Given the description of an element on the screen output the (x, y) to click on. 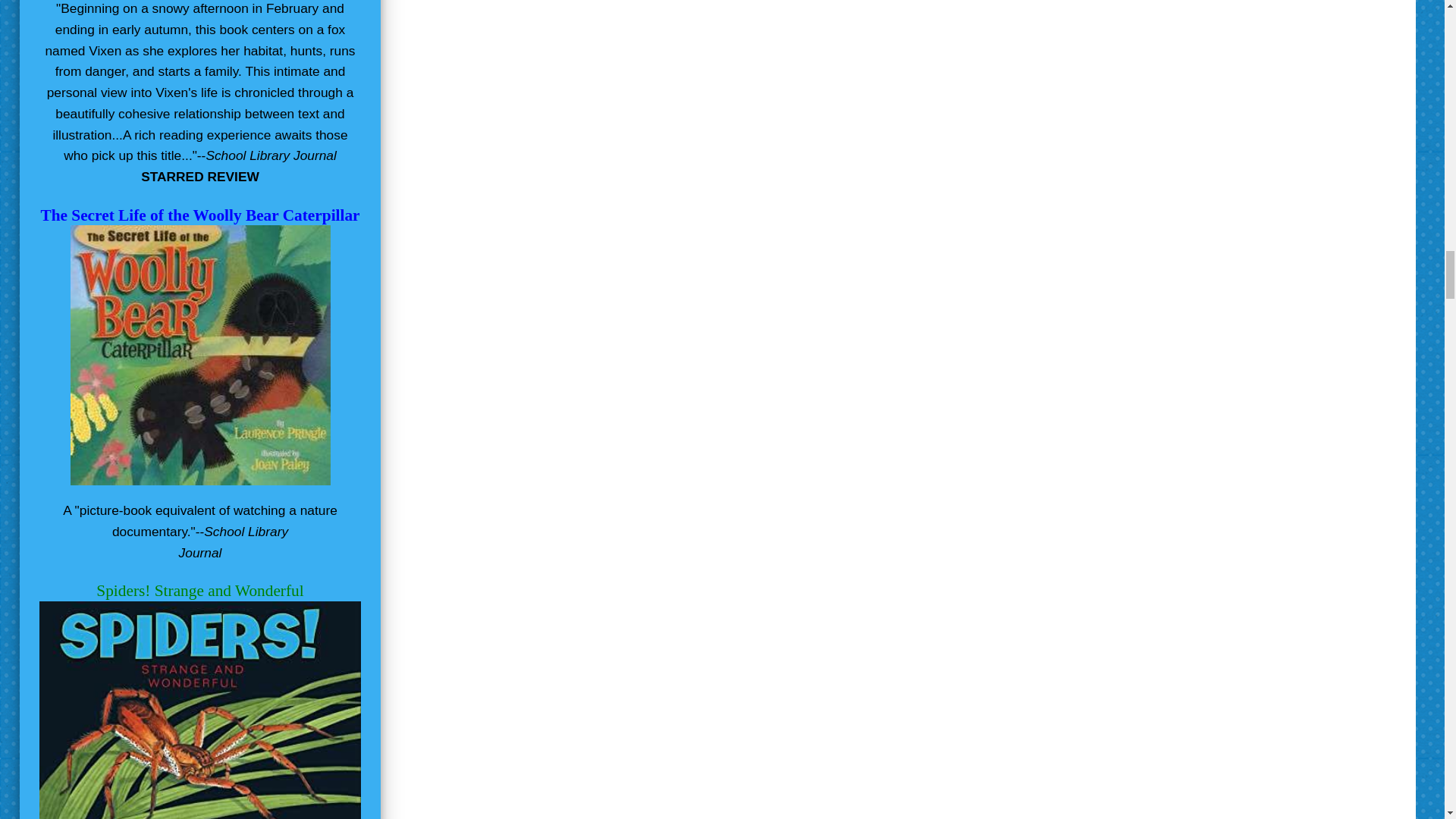
Spiders! Strange and Wonderful (199, 590)
The Secret Life of the Woolly Bear Caterpillar (199, 215)
